Given the description of an element on the screen output the (x, y) to click on. 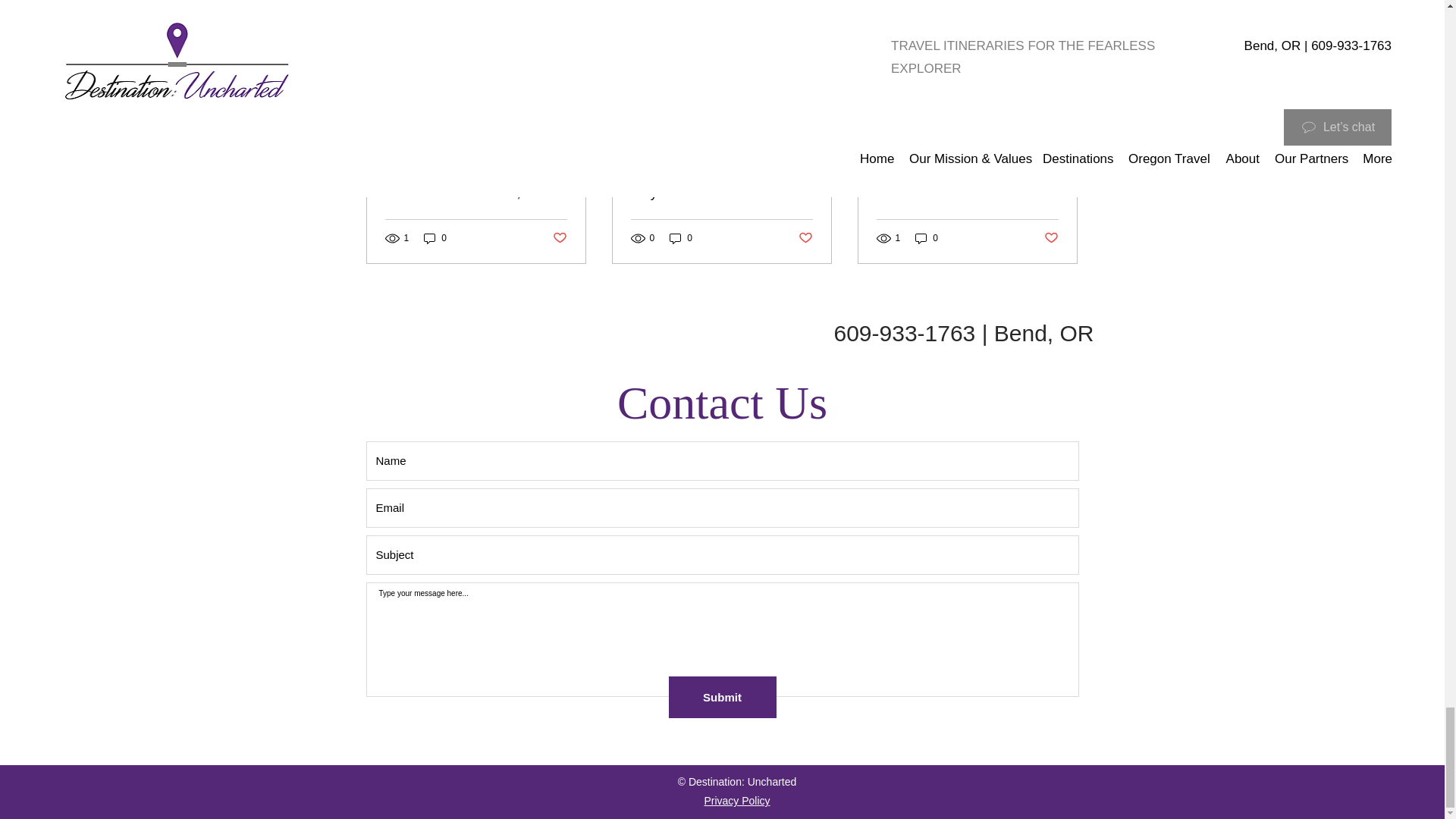
How the Remote Faroe Islands Make a Case for Slow Travel (967, 184)
Post not marked as liked (558, 238)
Post not marked as liked (804, 238)
0 (435, 237)
0 (681, 237)
0 (926, 237)
How to Do Rome the Right Way (721, 184)
See All (1061, 6)
